Given the description of an element on the screen output the (x, y) to click on. 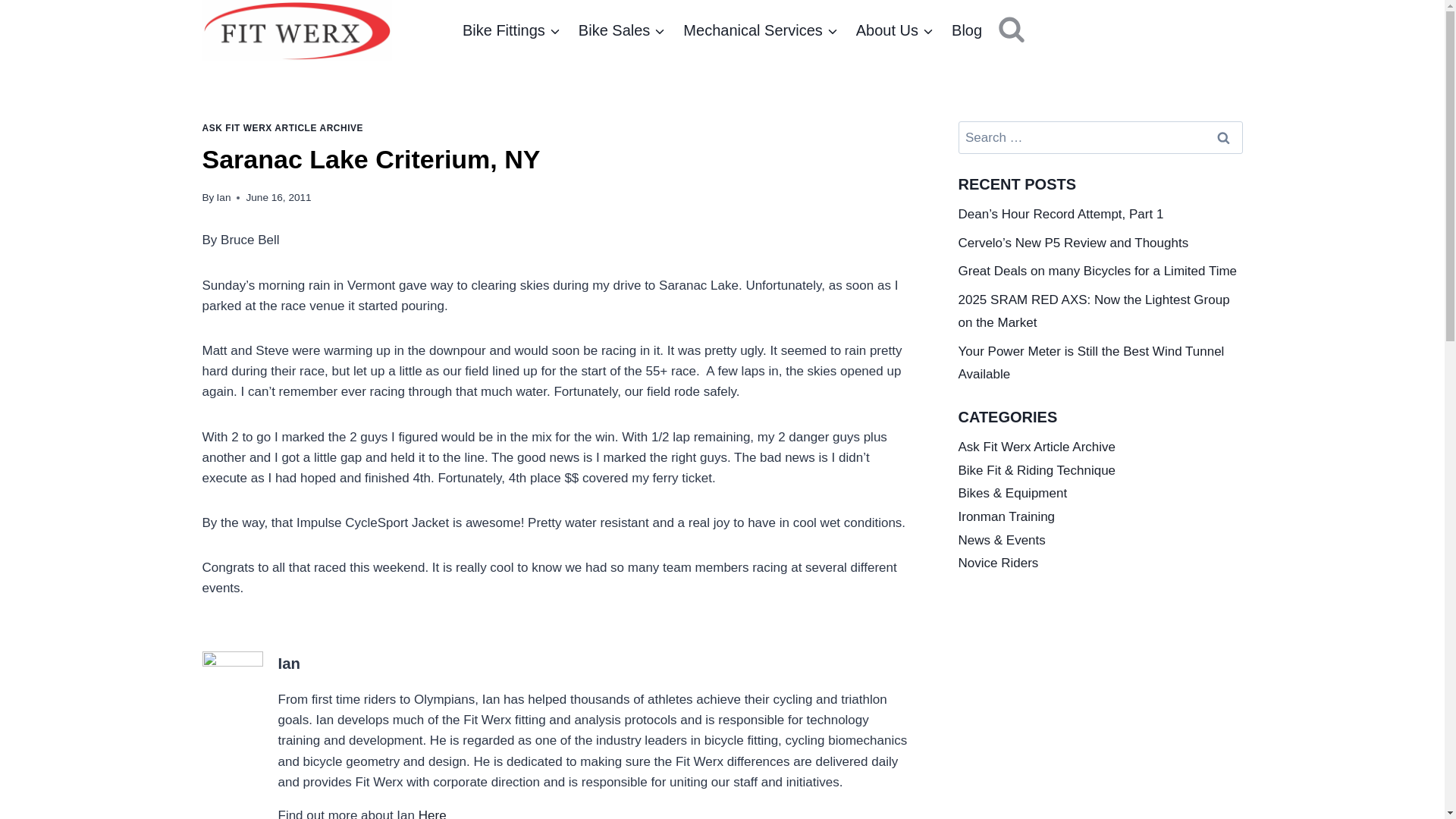
Search (1222, 137)
Ian (288, 663)
Here (432, 813)
Blog (966, 30)
Bike Sales (622, 30)
Search (1222, 137)
ASK FIT WERX ARTICLE ARCHIVE (282, 127)
Ian (223, 197)
Posts by Ian (288, 663)
Bike Fittings (510, 30)
